Given the description of an element on the screen output the (x, y) to click on. 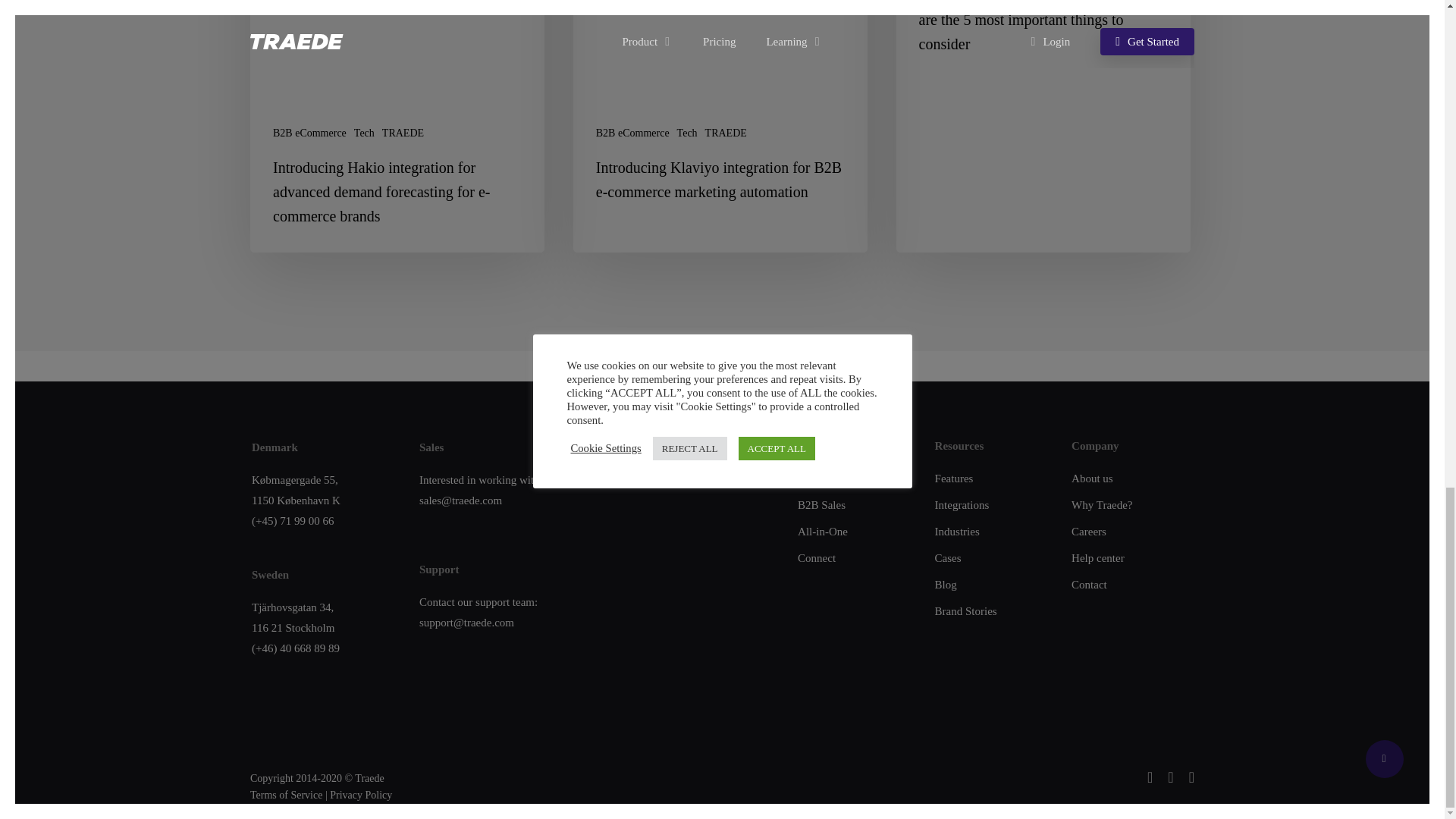
B2B eCommerce (632, 133)
Tech (363, 133)
Tech (687, 133)
TRAEDE (402, 133)
B2B eCommerce (309, 133)
TRAEDE (725, 133)
